Given the description of an element on the screen output the (x, y) to click on. 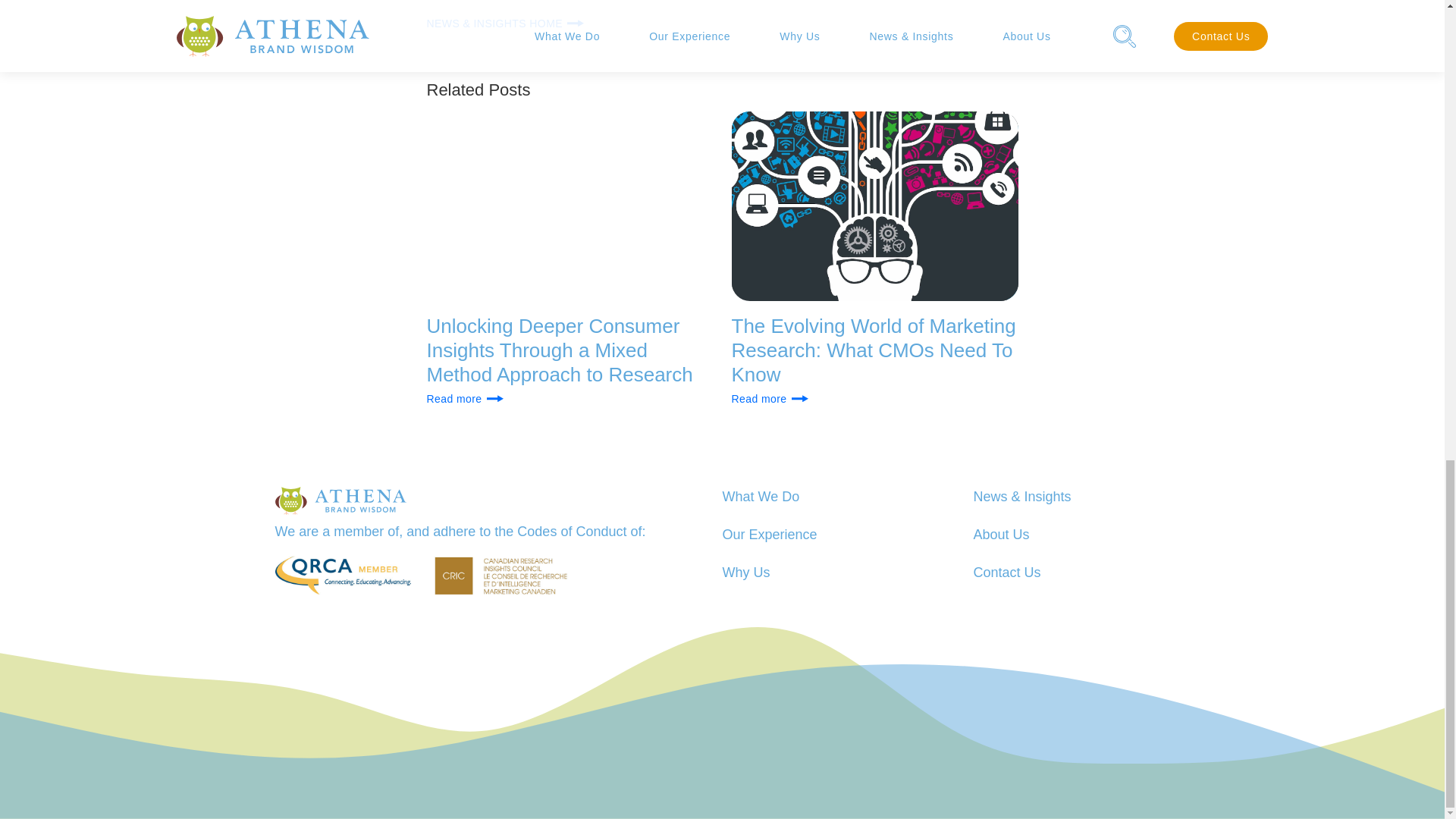
Read more (873, 398)
Contact Us (1007, 572)
Our Experience (769, 534)
About Us (1001, 534)
What We Do (760, 496)
Why Us (746, 572)
Read more (569, 398)
